Given the description of an element on the screen output the (x, y) to click on. 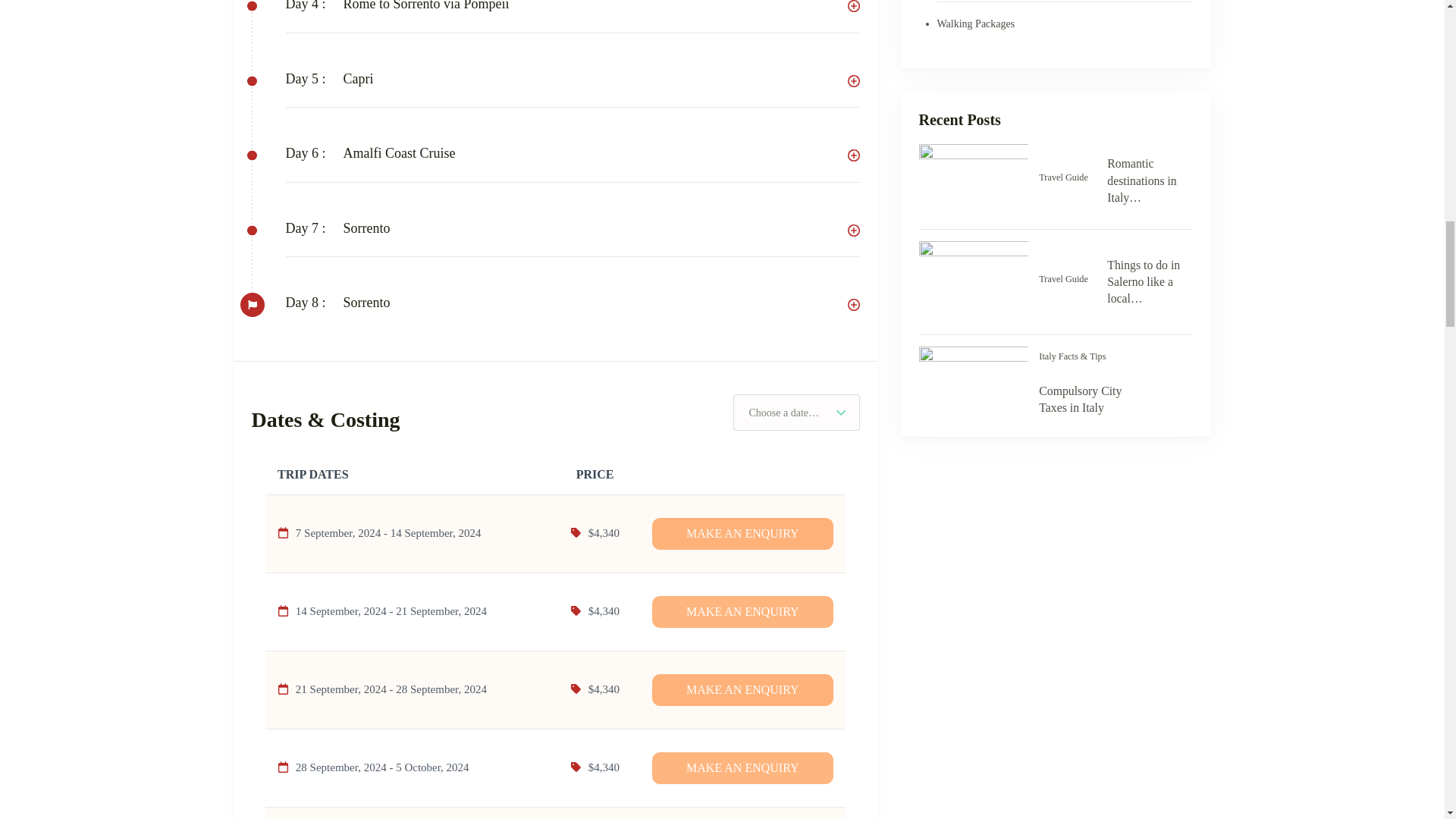
Romantic destinations in Italy... 5 (973, 180)
Compulsory City Taxes in Italy 7 (973, 382)
